Given the description of an element on the screen output the (x, y) to click on. 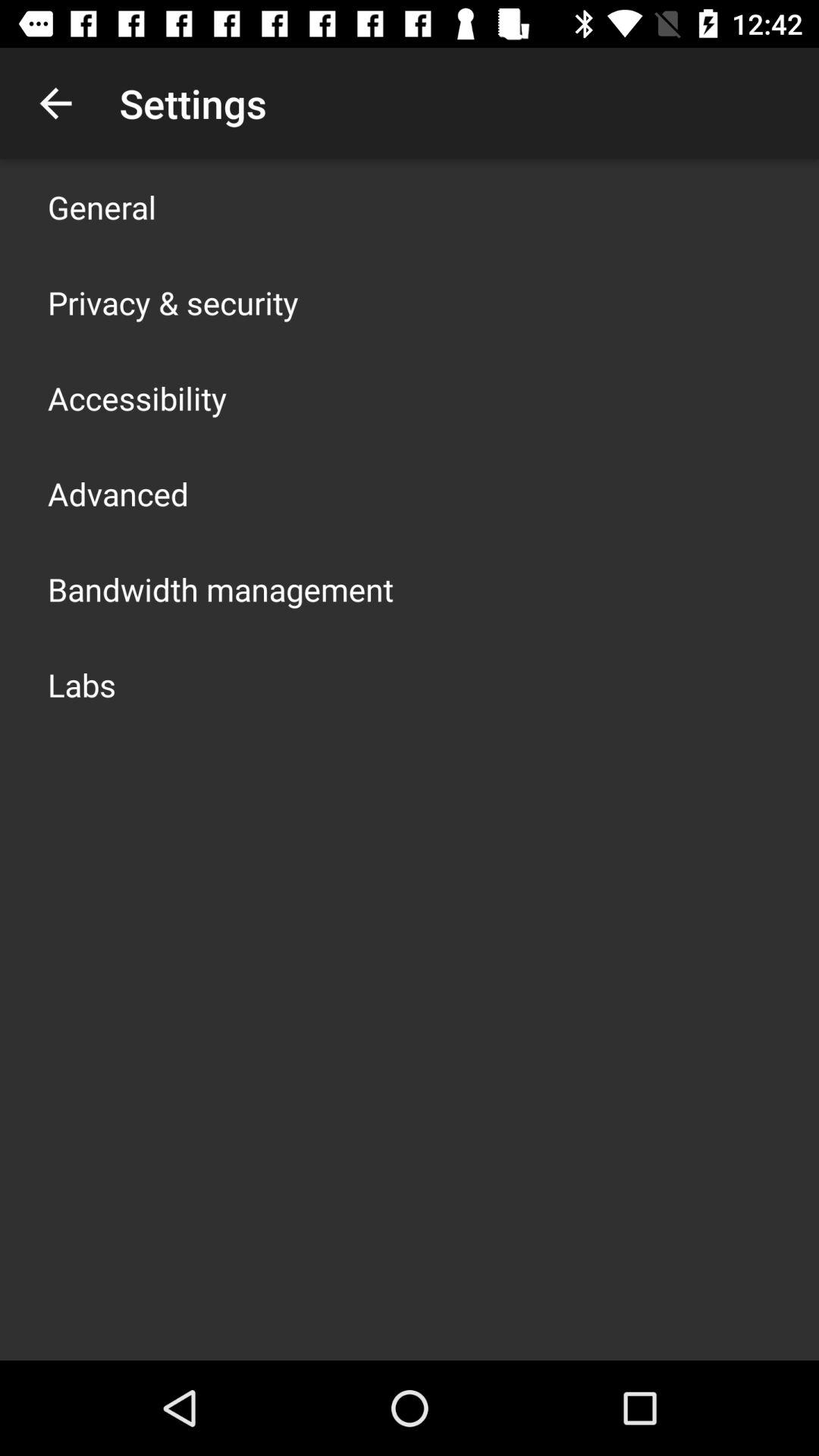
turn on the advanced app (117, 493)
